Given the description of an element on the screen output the (x, y) to click on. 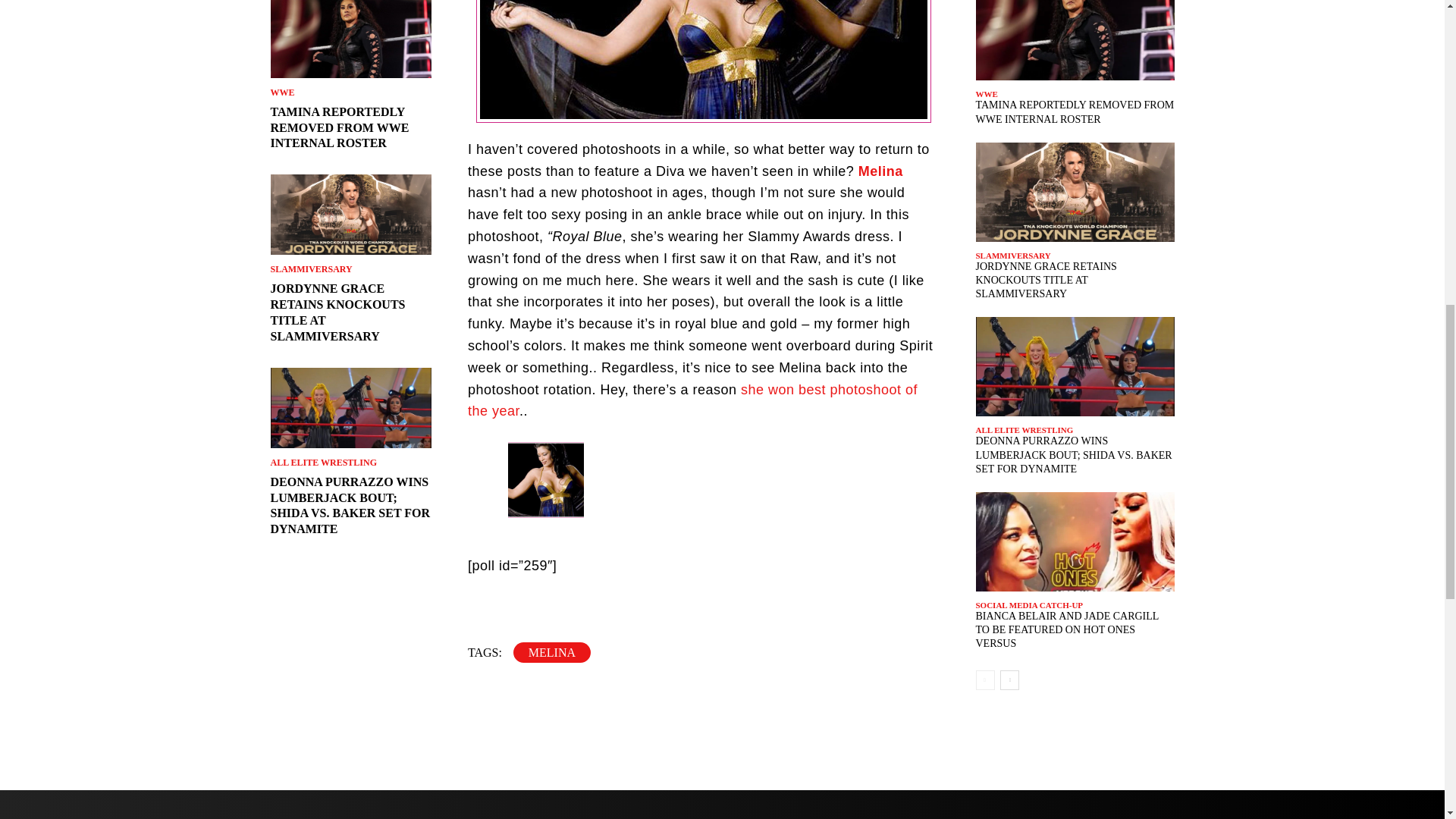
Tamina Reportedly Removed From WWE Internal Roster (349, 38)
Jordynne Grace Retains Knockouts Title At Slammiversary (349, 214)
Tamina Reportedly Removed From WWE Internal Roster (339, 127)
